Given the description of an element on the screen output the (x, y) to click on. 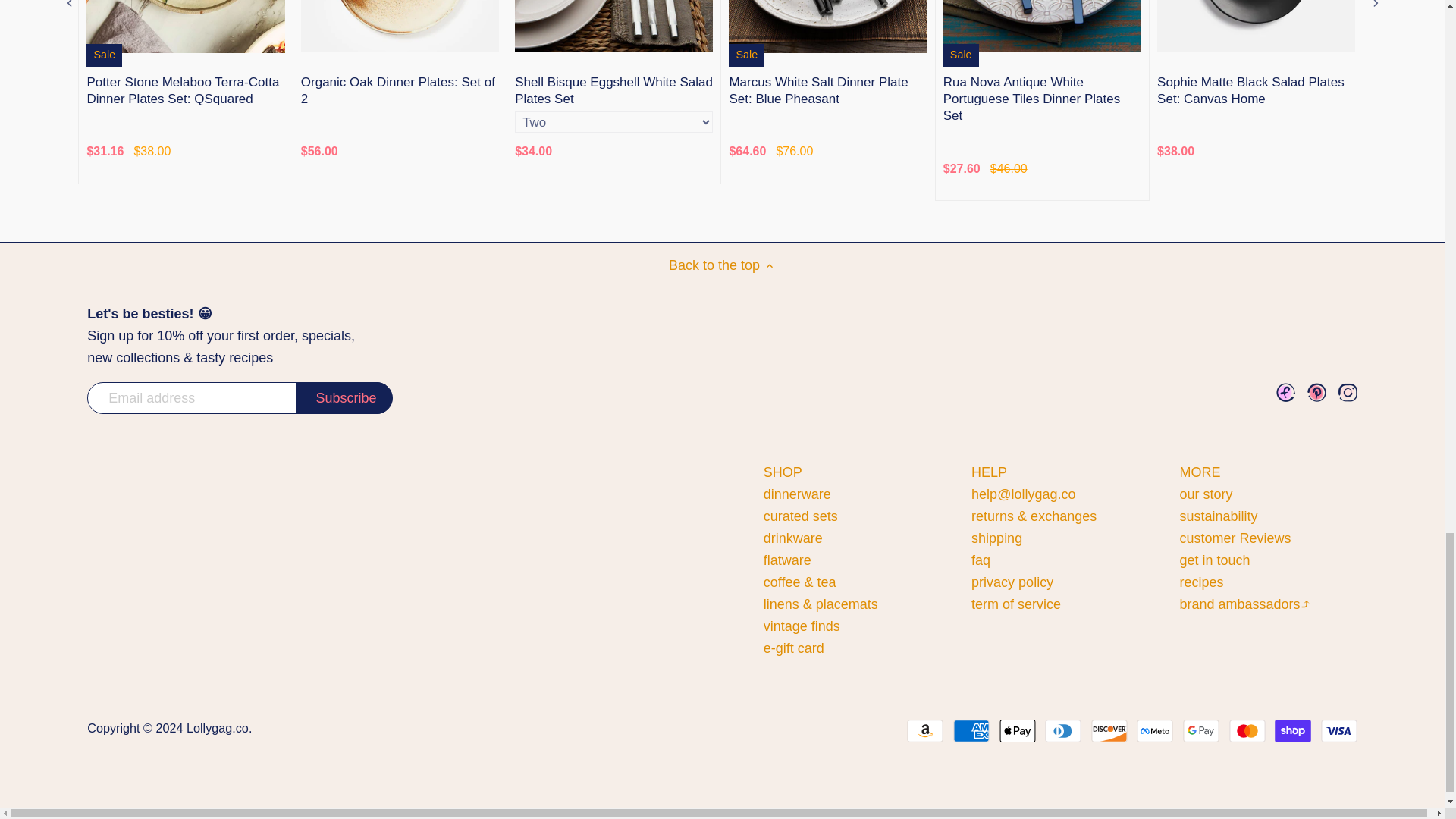
Instagram (1347, 392)
Amazon (925, 730)
Apple Pay (1016, 730)
Diners Club (1063, 730)
Subscribe (344, 398)
Pinterest (1316, 392)
American Express (971, 730)
Facebook (1285, 392)
